Given the description of an element on the screen output the (x, y) to click on. 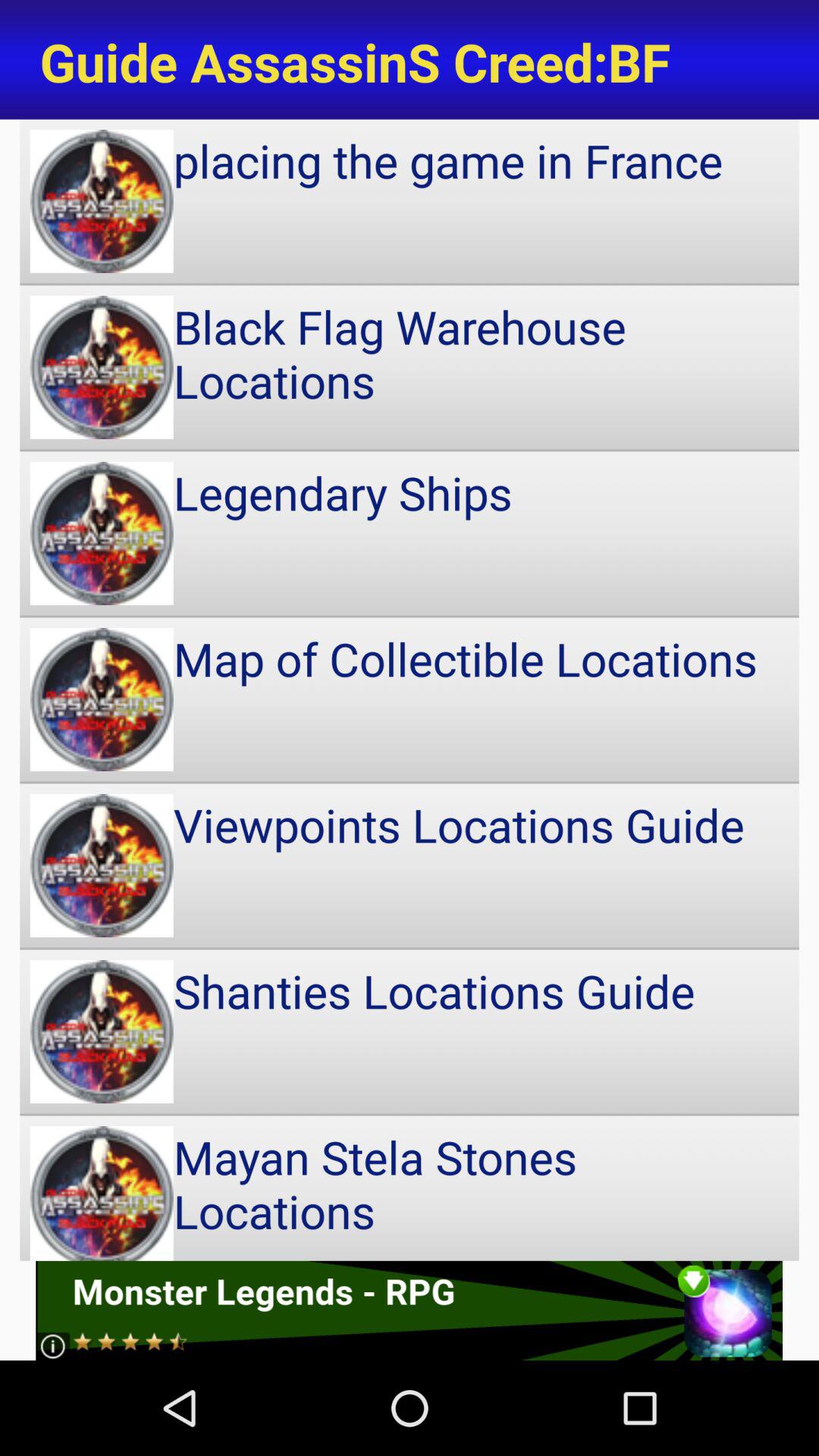
select icon below legendary ships icon (409, 699)
